Given the description of an element on the screen output the (x, y) to click on. 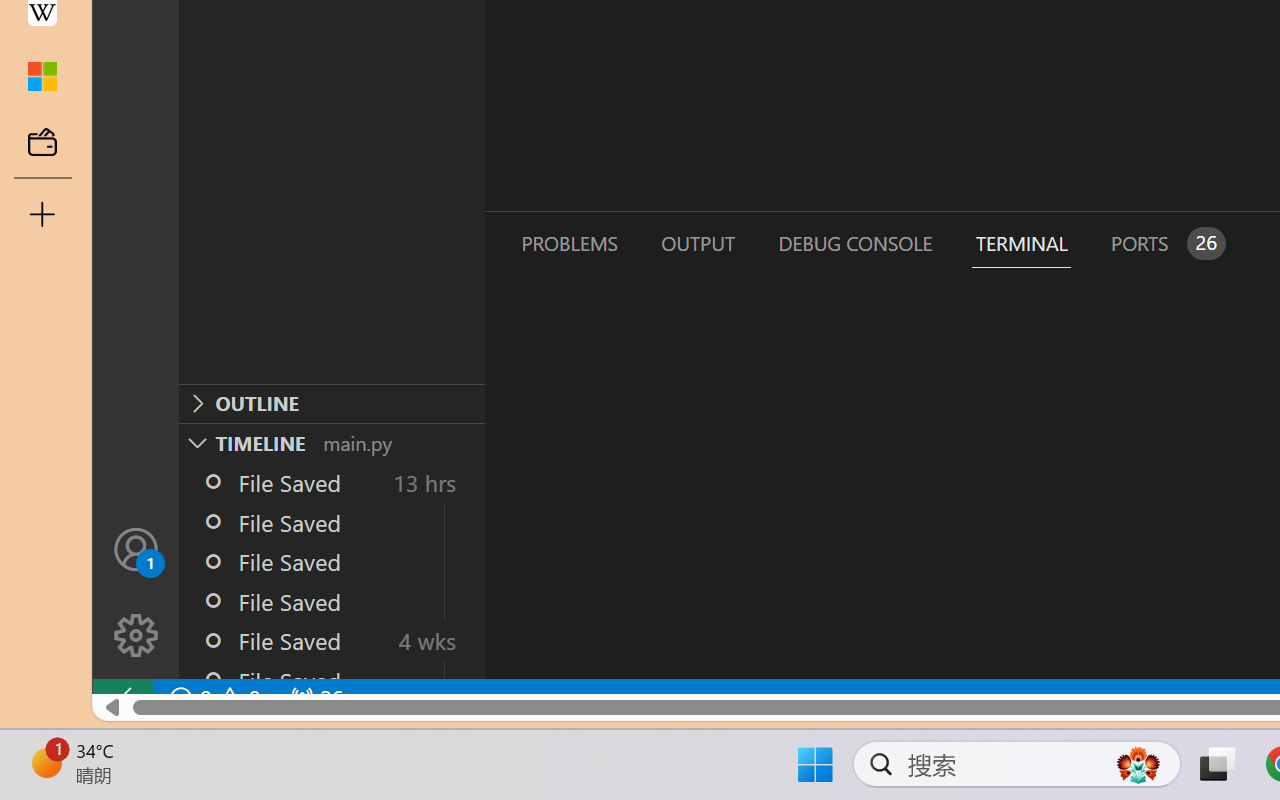
Ports - 26 forwarded ports (1165, 243)
Accounts - Sign in requested (135, 548)
Manage (135, 591)
Timeline Section (331, 442)
Terminal (Ctrl+`) (1021, 243)
Outline Section (331, 403)
remote (122, 698)
Manage (135, 635)
